Given the description of an element on the screen output the (x, y) to click on. 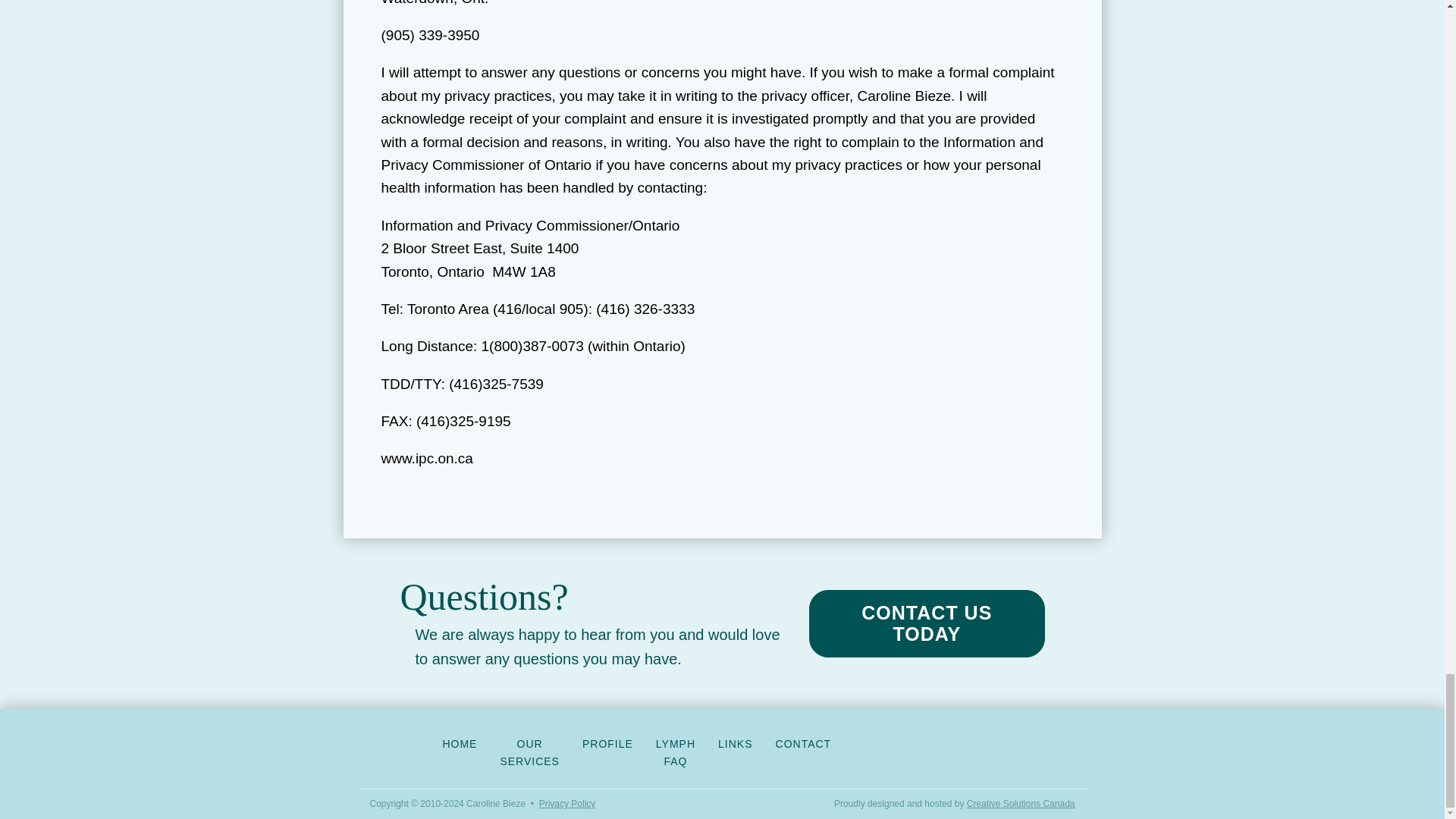
OUR SERVICES (528, 752)
LINKS (734, 743)
CONTACT US TODAY (926, 623)
CONTACT (803, 743)
PROFILE (607, 743)
LYMPH FAQ (675, 752)
HOME (458, 743)
Privacy Policy (566, 803)
Creative Solutions Canada (1020, 803)
